Given the description of an element on the screen output the (x, y) to click on. 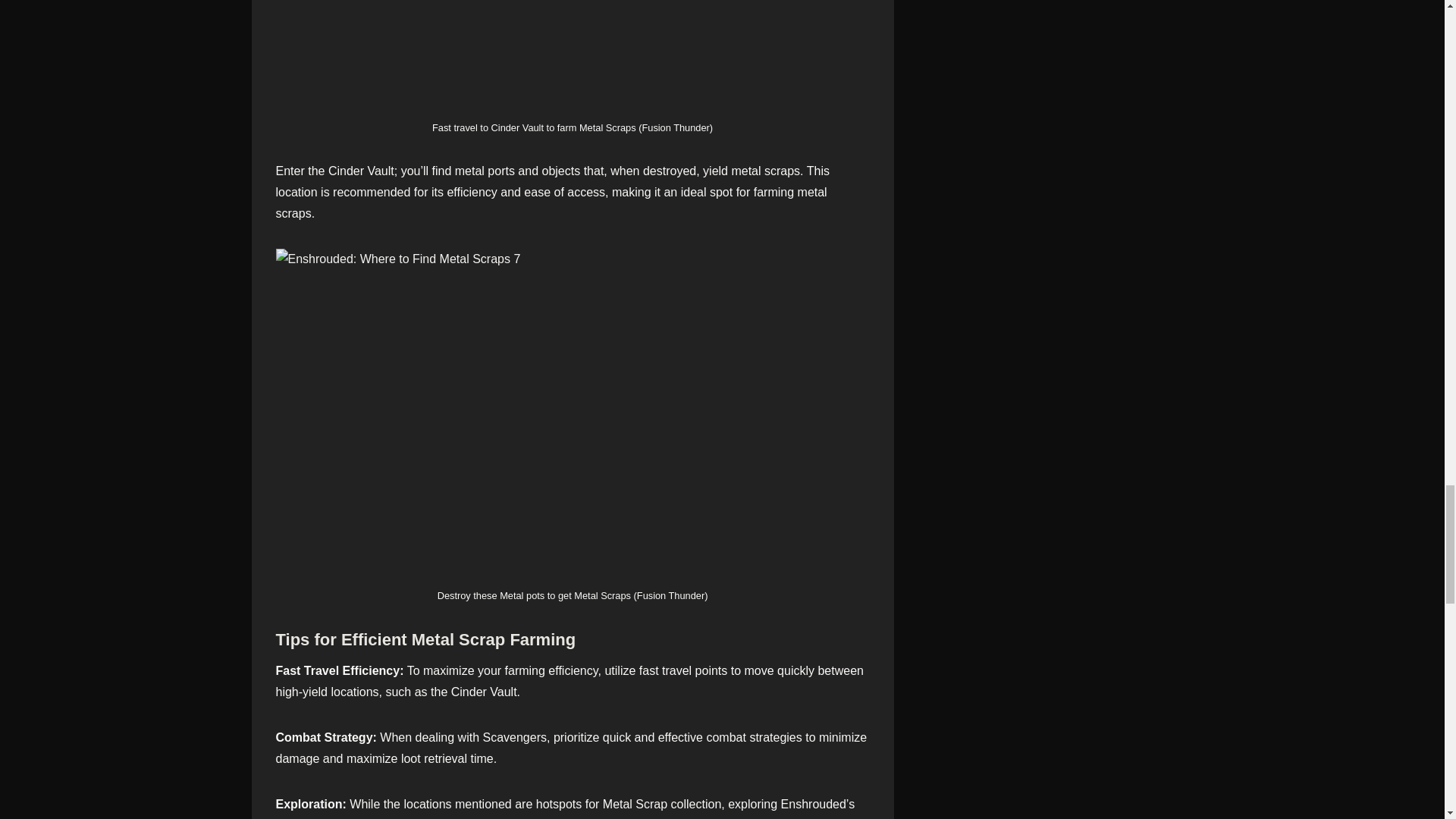
Enshrouded: Where to Find Metal Scraps 6 (572, 57)
